Given the description of an element on the screen output the (x, y) to click on. 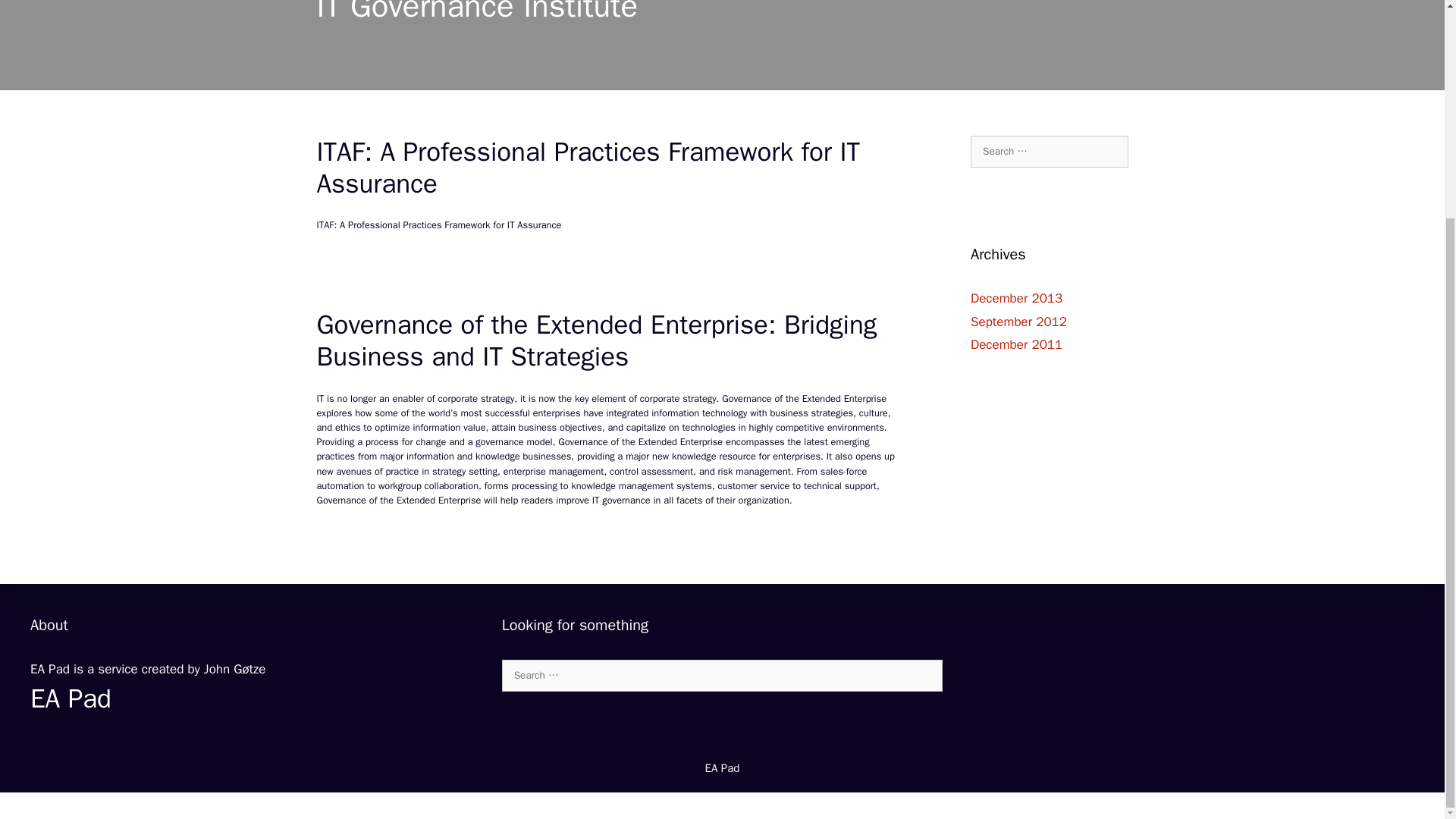
Search for: (1049, 151)
Search for: (722, 675)
